Given the description of an element on the screen output the (x, y) to click on. 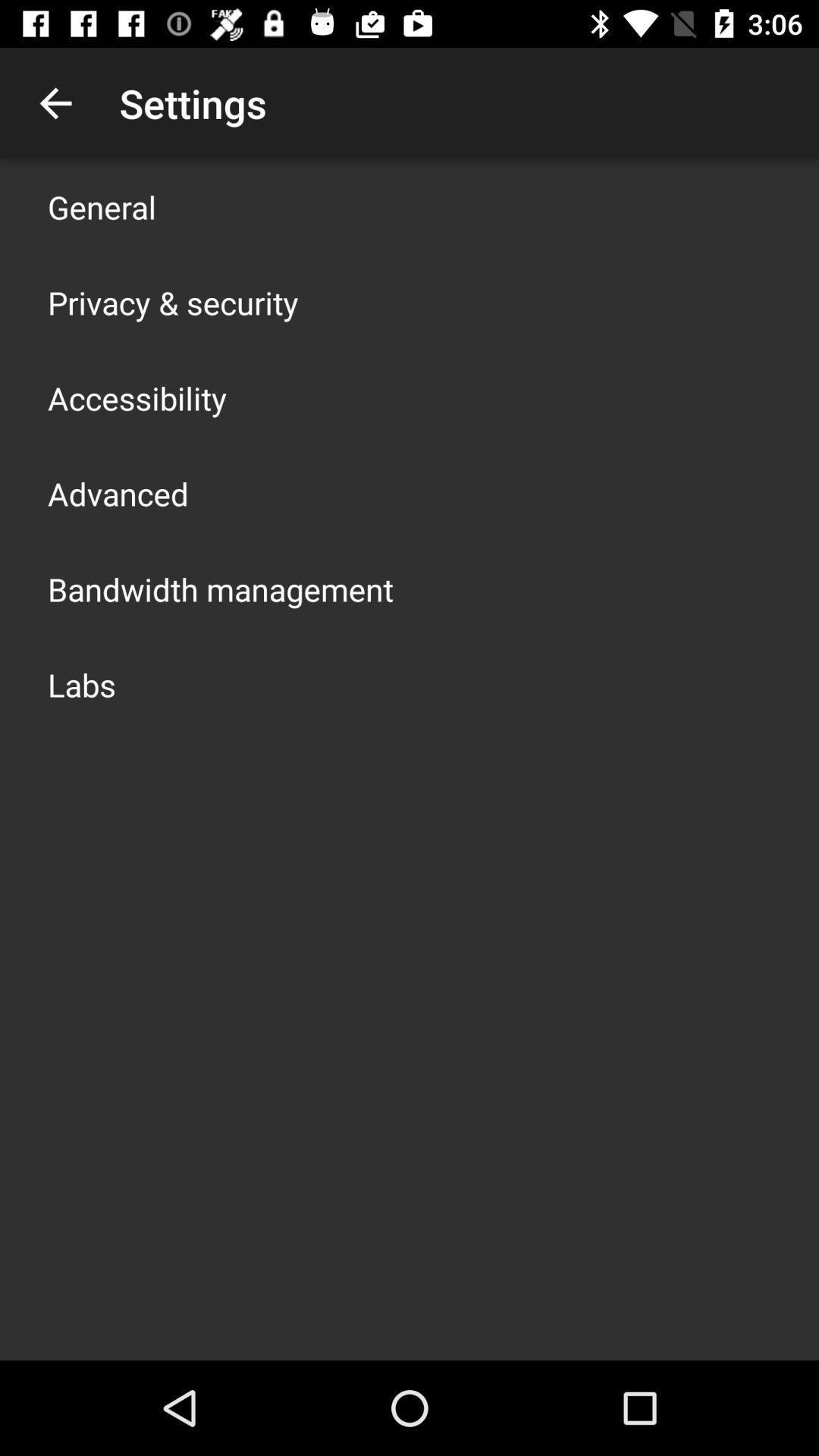
choose icon below general app (172, 302)
